Given the description of an element on the screen output the (x, y) to click on. 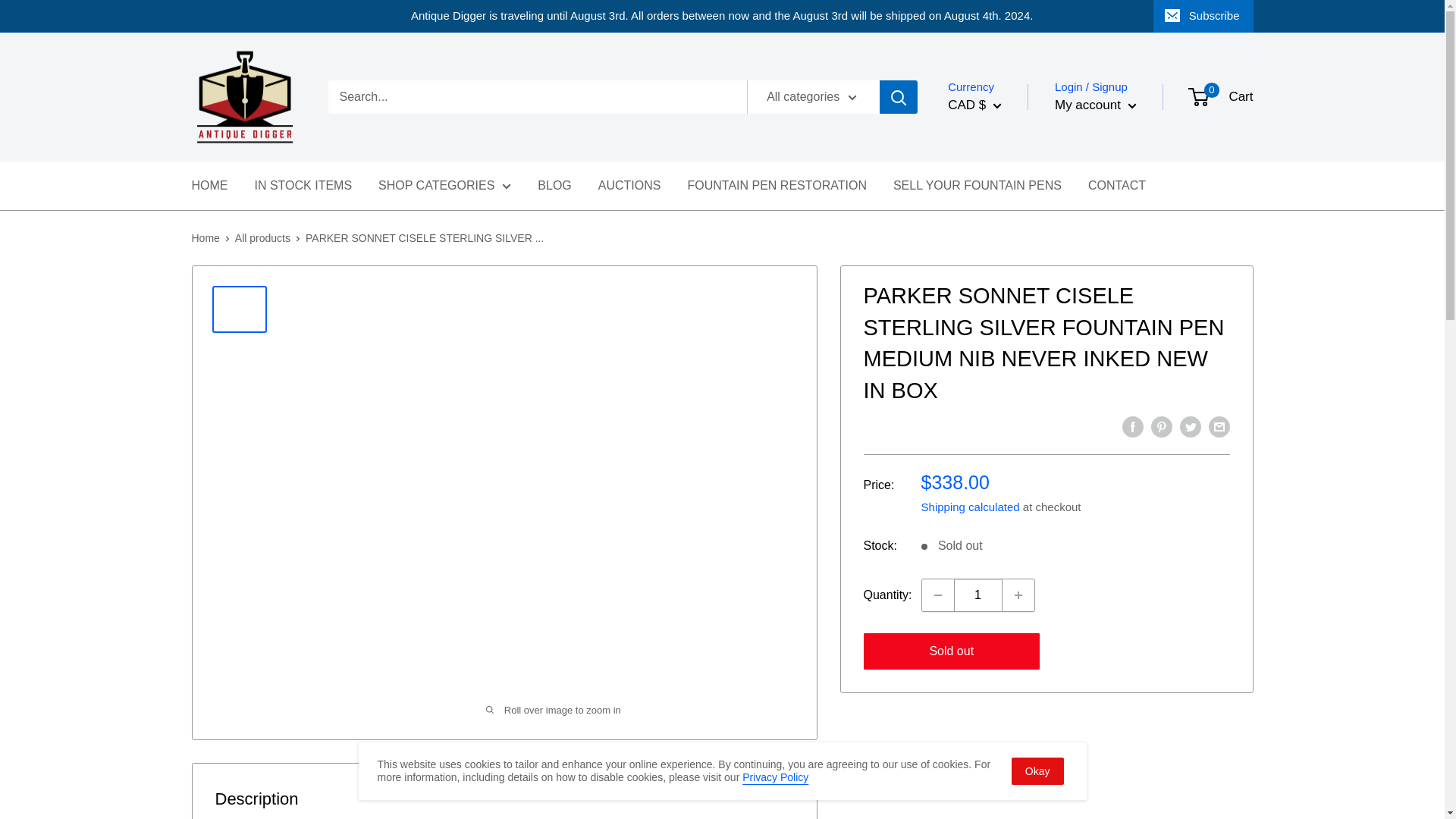
1 (978, 594)
Decrease quantity by 1 (937, 594)
Increase quantity by 1 (1018, 594)
Subscribe (1203, 15)
Privacy Policy (775, 776)
